Given the description of an element on the screen output the (x, y) to click on. 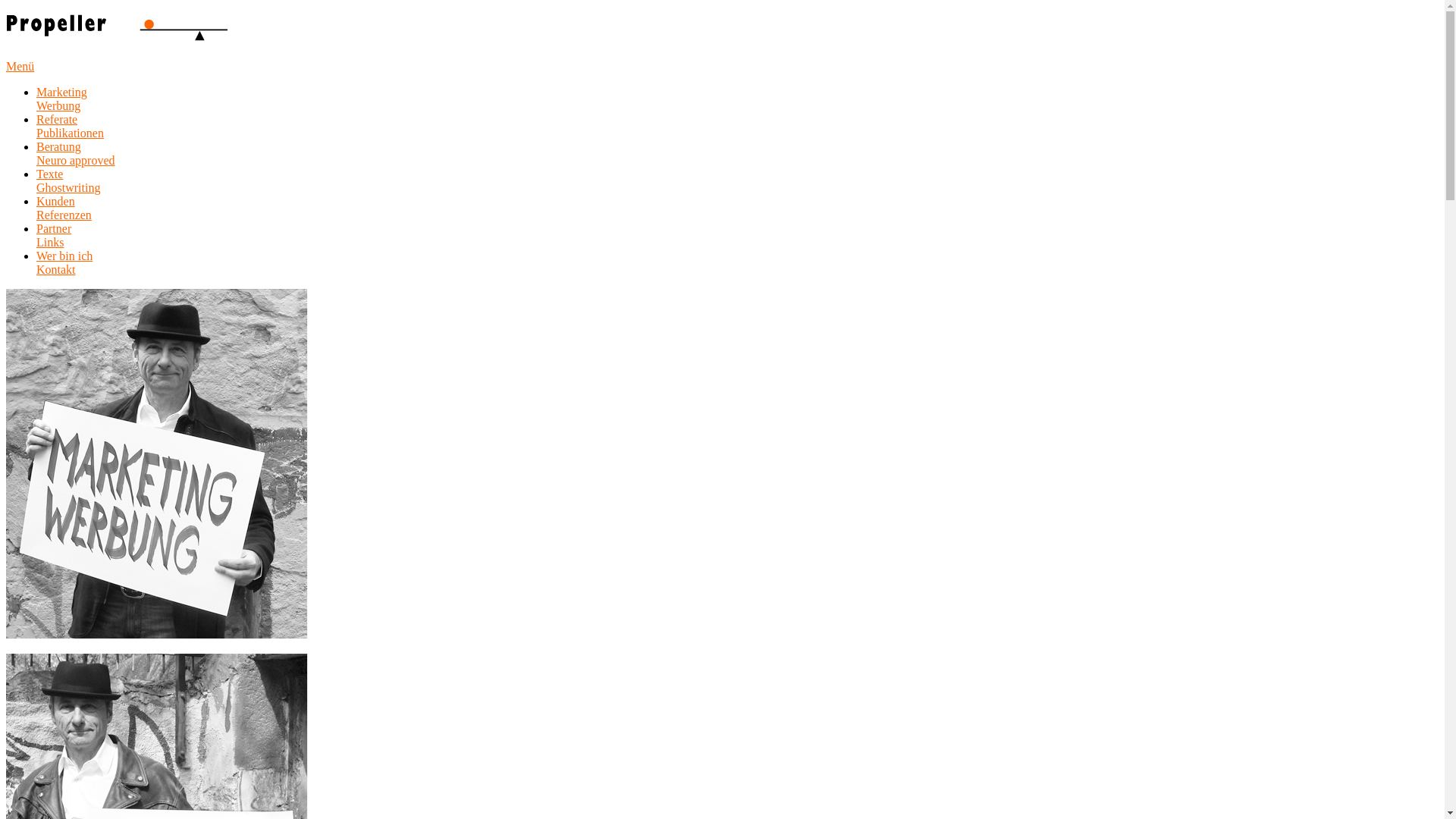
Propeller Marketingdesign Element type: hover (117, 31)
Kunden
Referenzen Element type: text (63, 207)
Wer bin ich
Kontakt Element type: text (64, 262)
Beratung
Neuro approved Element type: text (75, 153)
Referate
Publikationen Element type: text (69, 125)
Marketing
Werbung Element type: text (61, 98)
Texte
Ghostwriting Element type: text (68, 180)
Marketing Werbung Element type: hover (157, 633)
Partner
Links Element type: text (53, 235)
Marketing Werbung Element type: hover (157, 463)
